Given the description of an element on the screen output the (x, y) to click on. 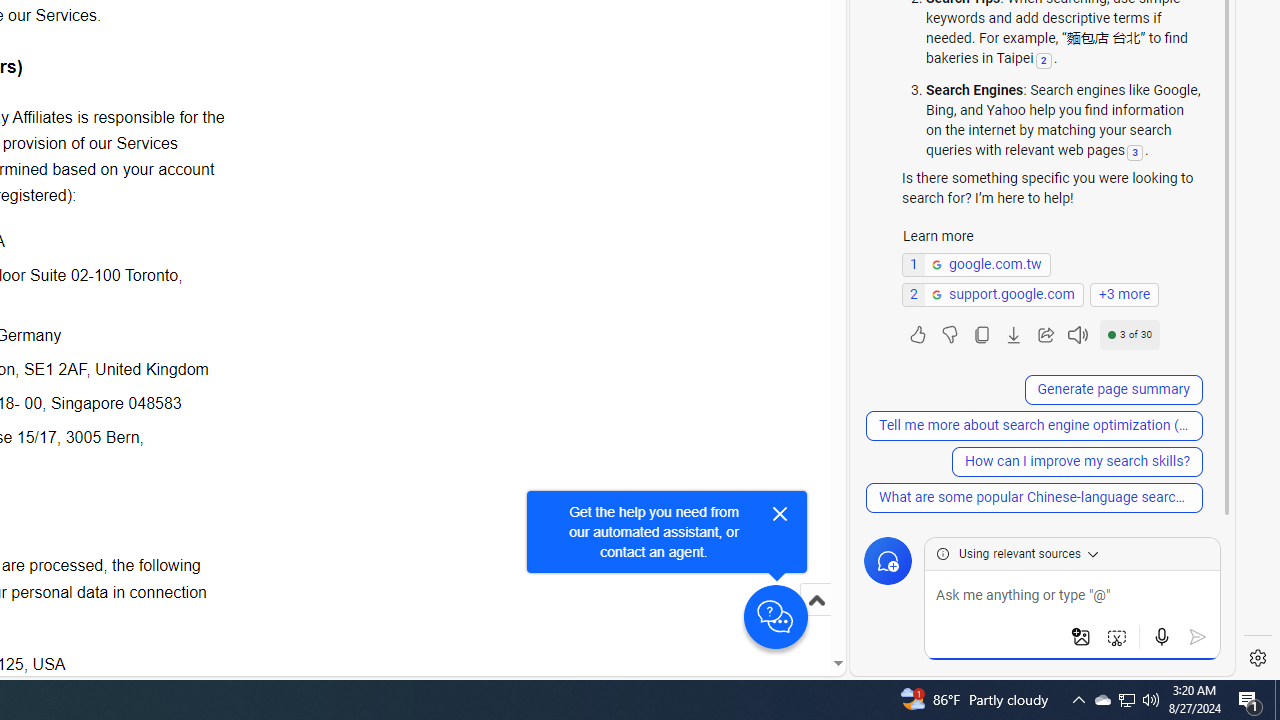
Scroll to top (816, 599)
Scroll to top (816, 620)
